Given the description of an element on the screen output the (x, y) to click on. 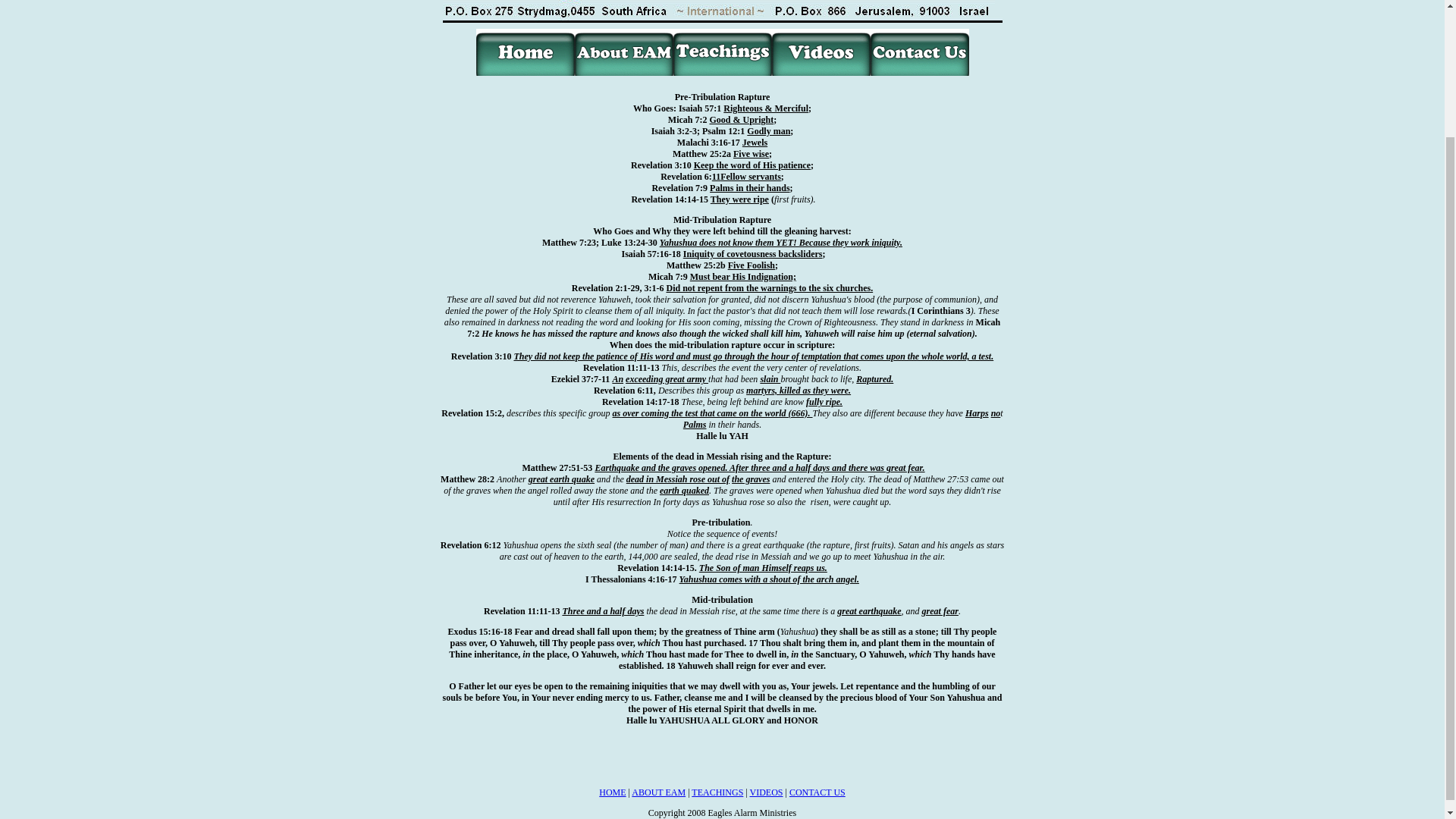
HOME (612, 792)
CONTACT US (817, 792)
VIDEOS (766, 792)
ABOUT EAM (658, 792)
TEACHINGS (716, 792)
